Given the description of an element on the screen output the (x, y) to click on. 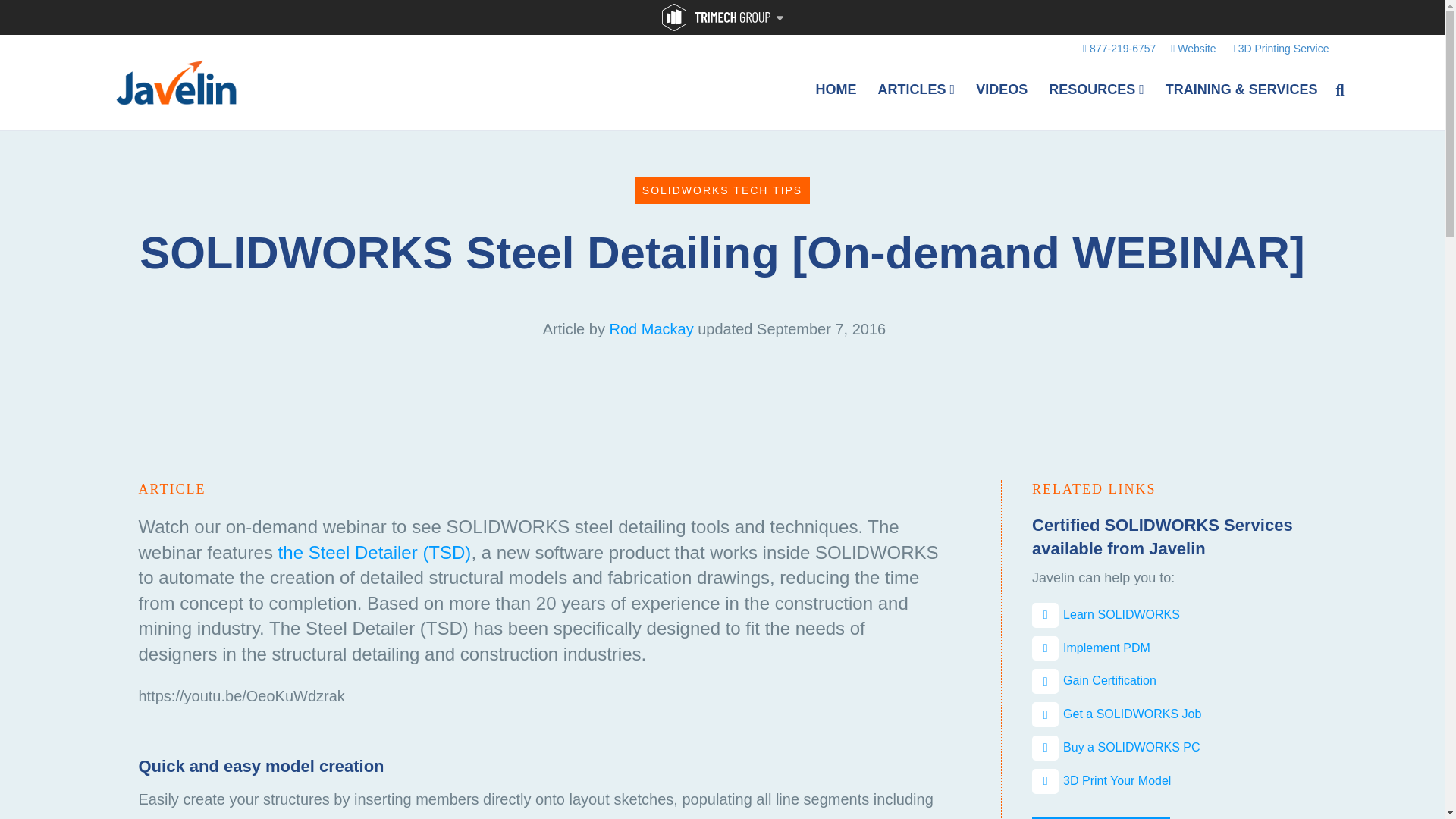
HOME (836, 89)
ARTICLES (916, 89)
Website (1193, 48)
3D Printing Service (1280, 48)
877-219-6757 (1119, 48)
